Given the description of an element on the screen output the (x, y) to click on. 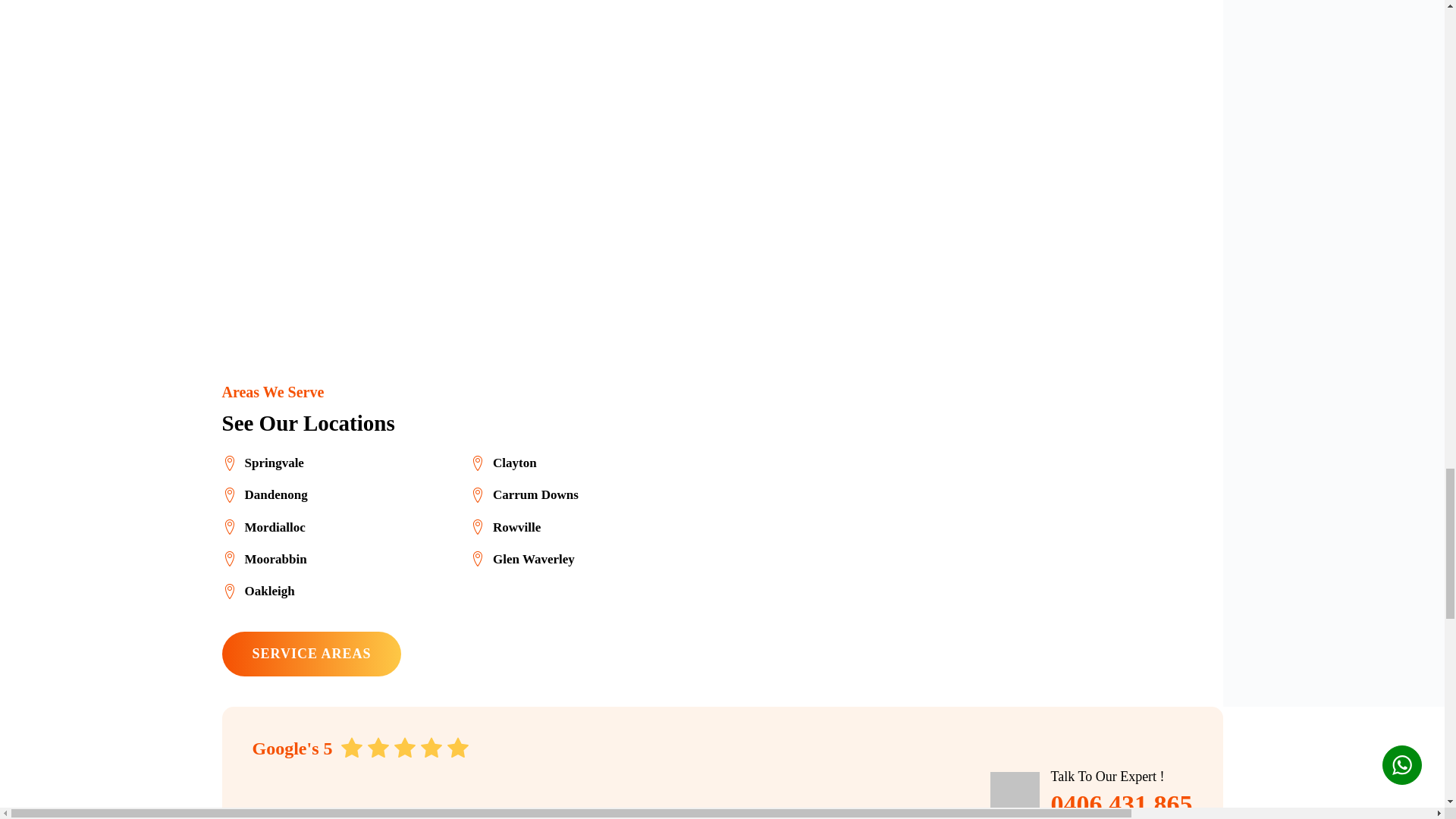
0406 431 865 (1121, 803)
Mordialloc (262, 526)
Moorabbin (263, 558)
Carrum Downs (524, 494)
Glen Waverley (522, 558)
Dandenong (264, 494)
Clayton (503, 462)
Springvale (261, 462)
Google's 5 (359, 748)
Oakleigh (257, 590)
